Given the description of an element on the screen output the (x, y) to click on. 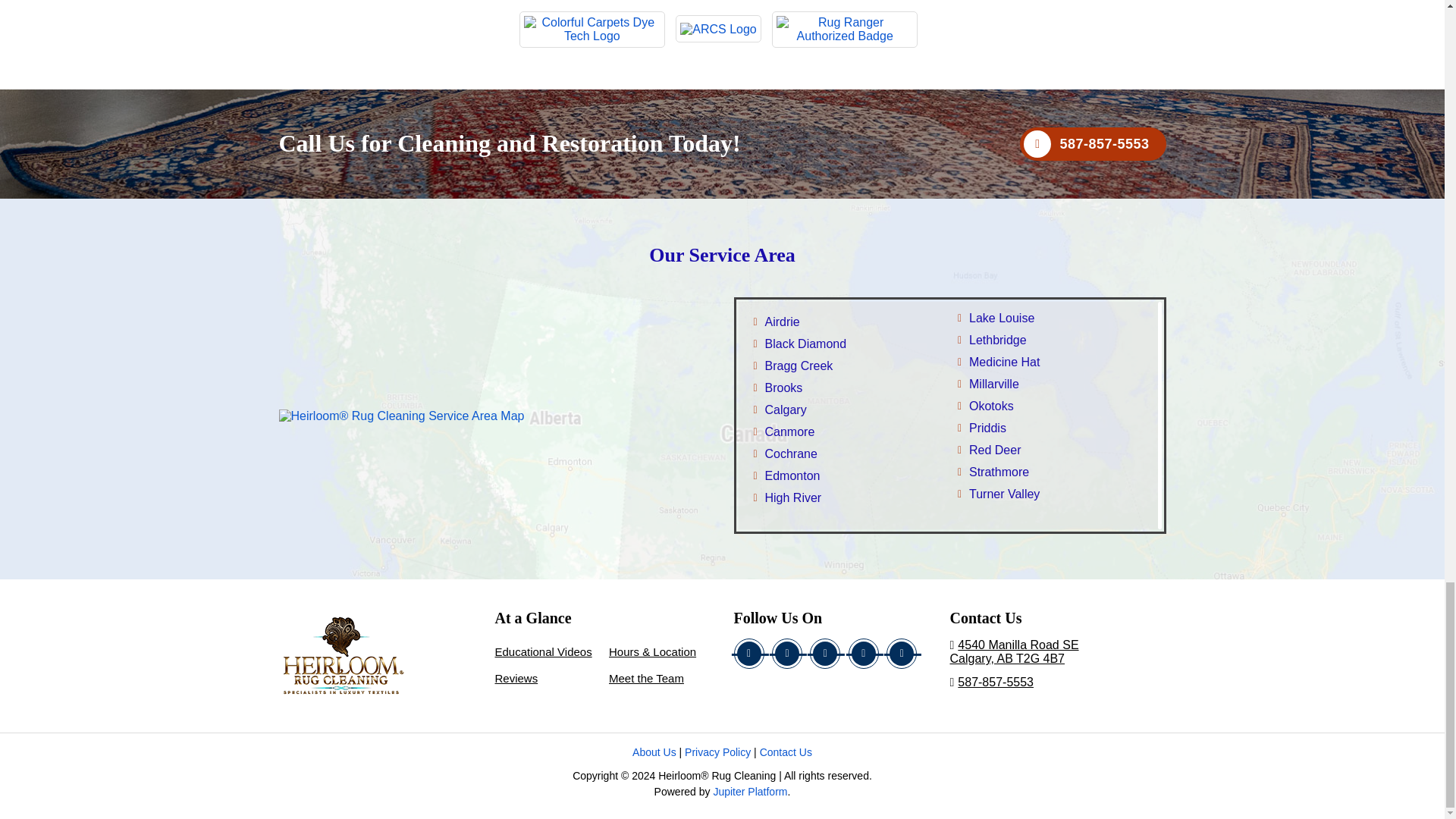
View Our facebook Page (748, 653)
Our Google Page (824, 653)
View us on Google Map (1057, 651)
View Our Youtube Page (863, 653)
View Our Pinterest Page (901, 653)
View Our Twitter Page (786, 653)
